Given the description of an element on the screen output the (x, y) to click on. 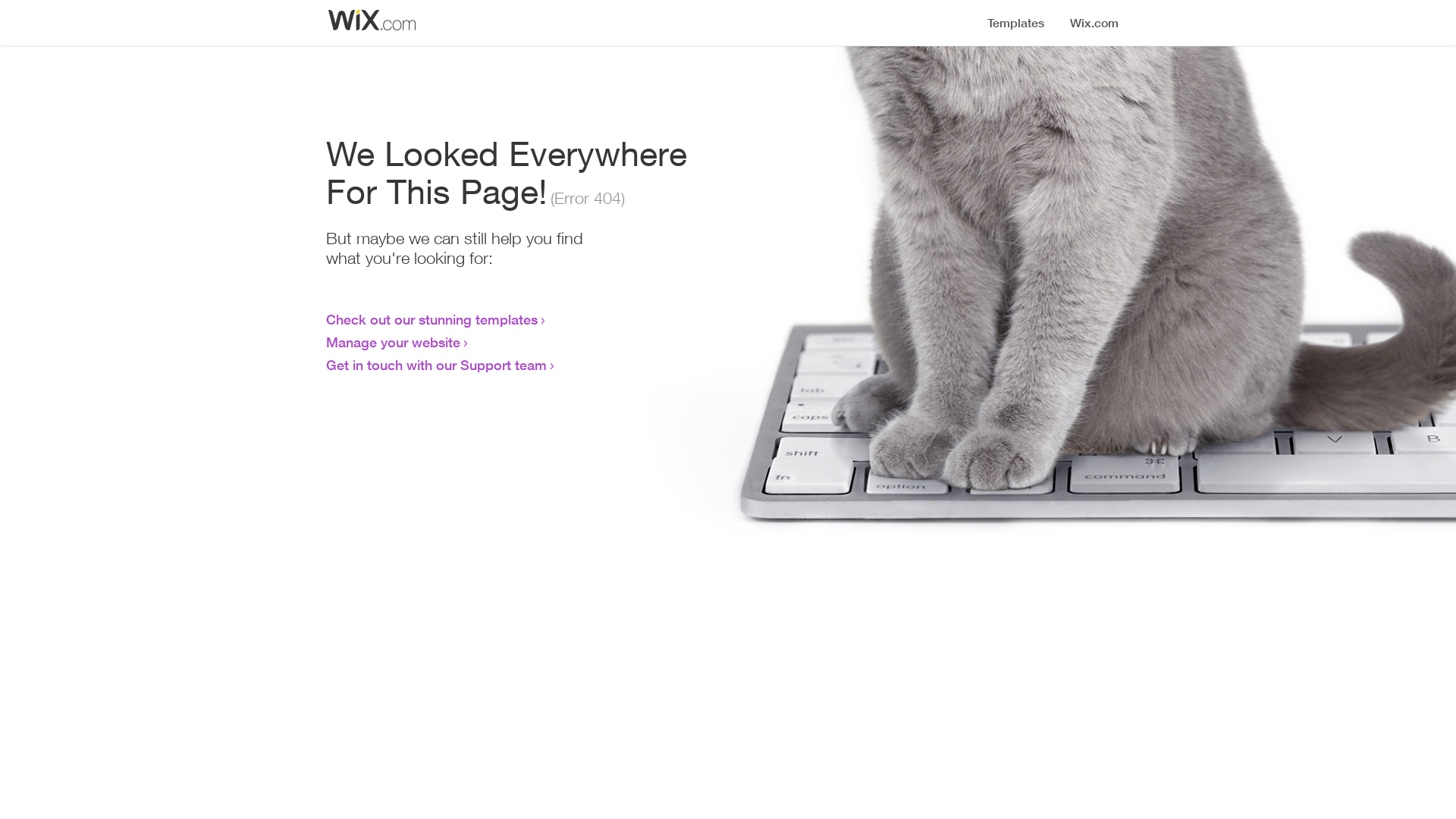
Get in touch with our Support team Element type: text (436, 364)
Manage your website Element type: text (393, 341)
Check out our stunning templates Element type: text (431, 318)
